Given the description of an element on the screen output the (x, y) to click on. 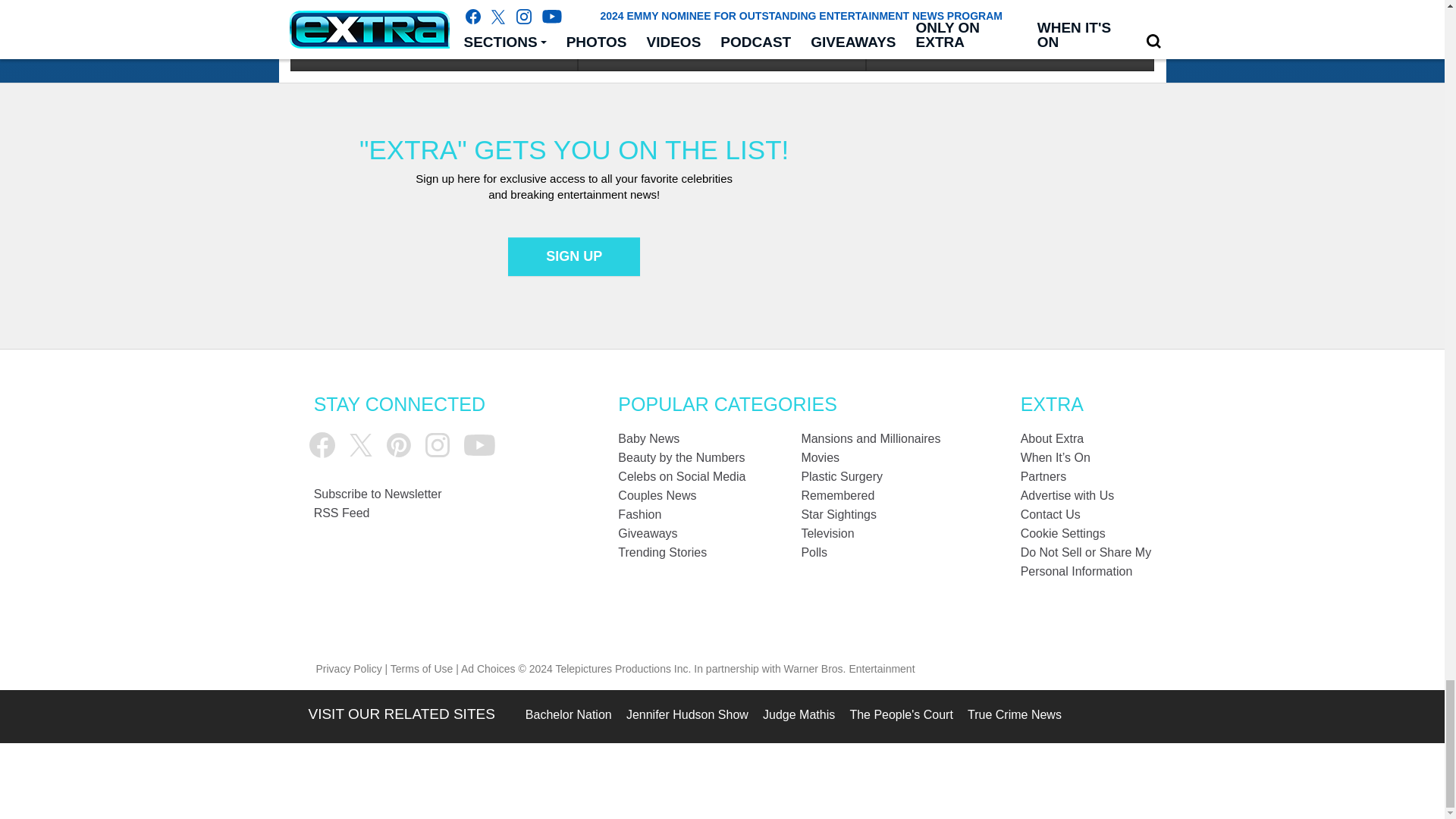
Twitter (360, 445)
Instagram (437, 445)
YouTube (479, 445)
Pinterest (398, 445)
Facebook (321, 444)
